Given the description of an element on the screen output the (x, y) to click on. 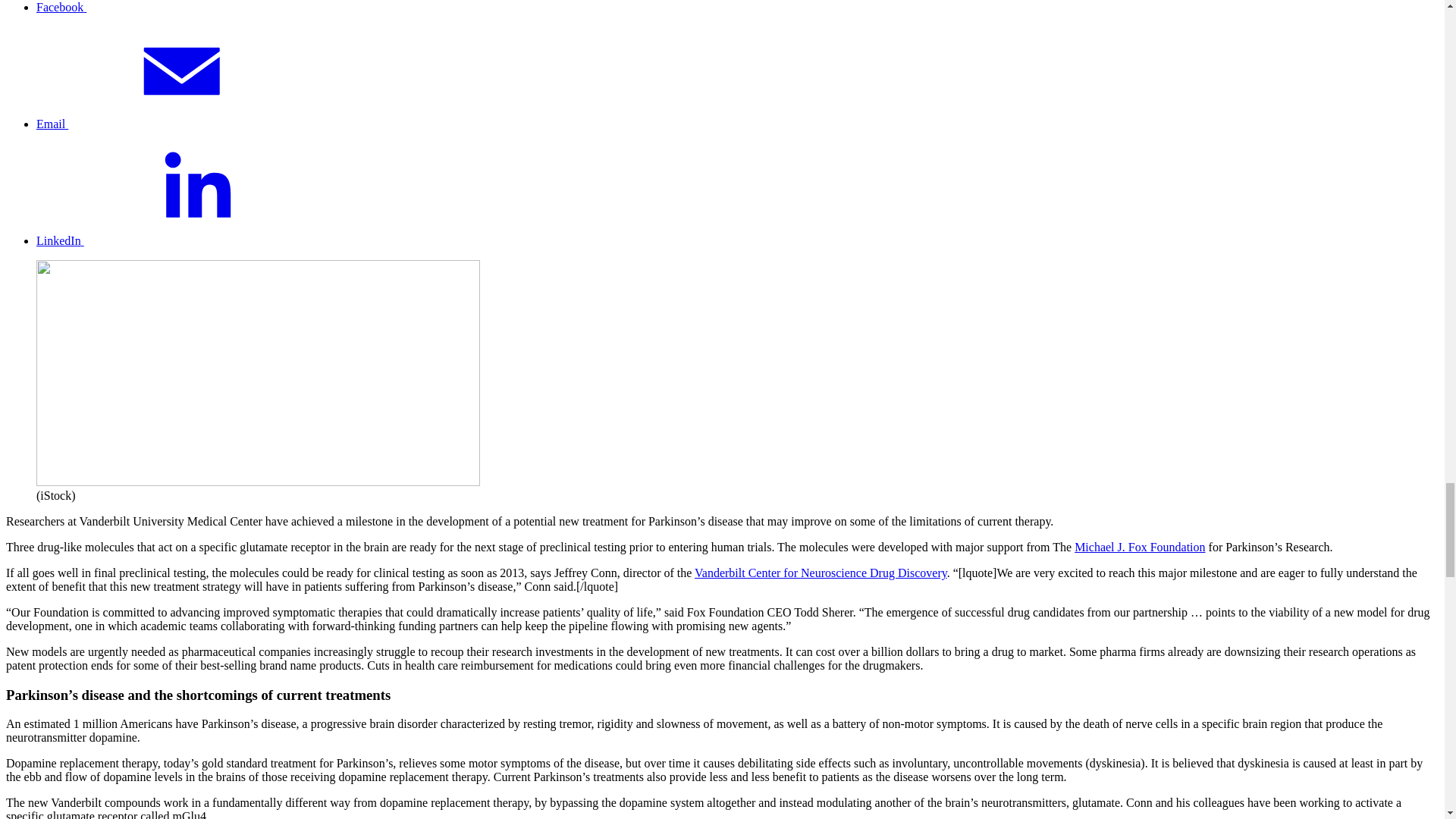
drug discovery parkinsons (258, 373)
LinkedIn (173, 240)
Email (165, 123)
Vanderbilt Center for Neuroscience Drug Discovery (820, 572)
Facebook (175, 6)
Michael J. Fox Foundation (1139, 546)
